Given the description of an element on the screen output the (x, y) to click on. 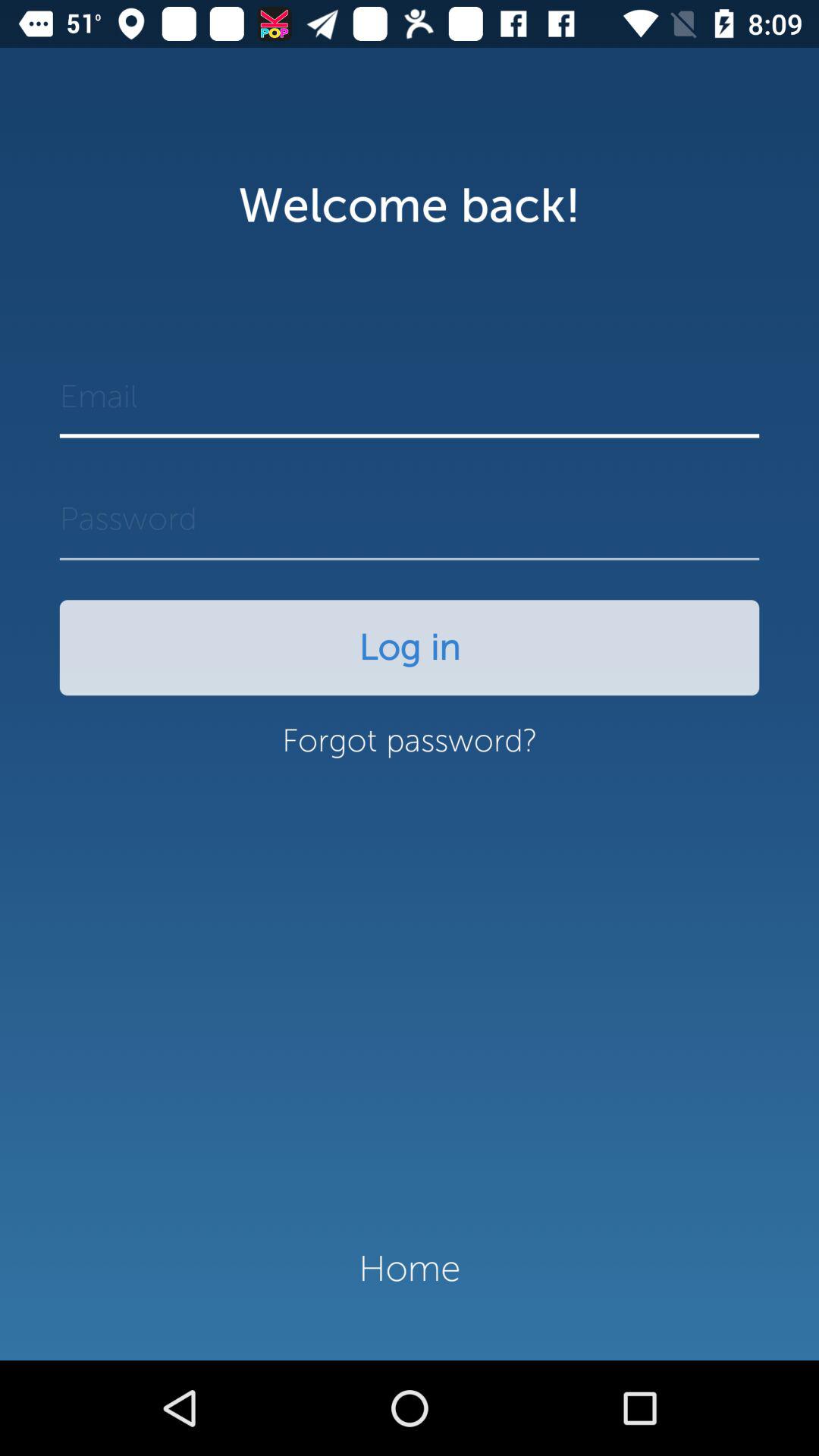
select forgot password? (409, 748)
